Given the description of an element on the screen output the (x, y) to click on. 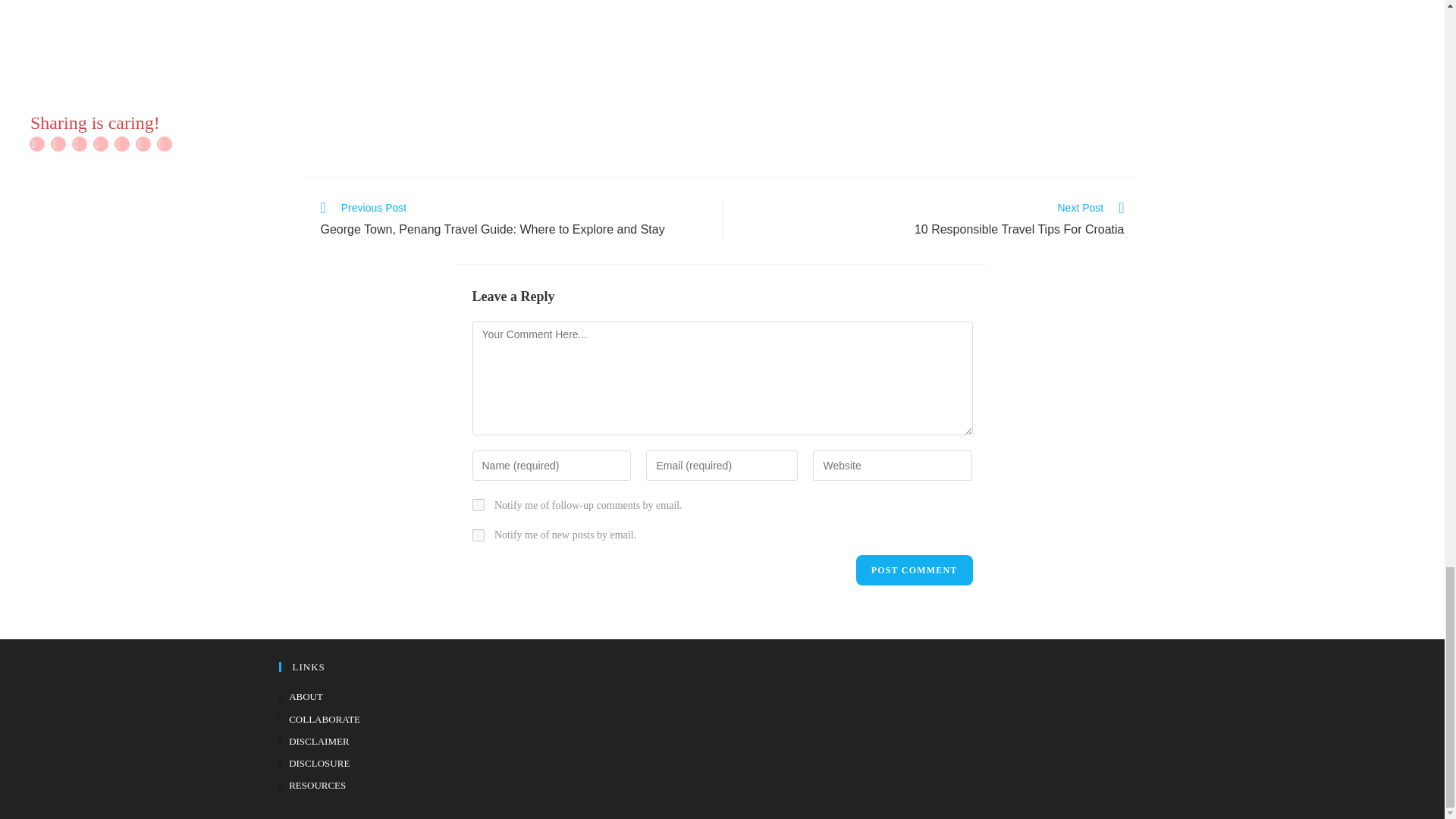
subscribe (477, 504)
Email This (122, 143)
Post Comment (914, 570)
WhatsApp (143, 143)
Facebook (37, 143)
Pinterest (79, 143)
subscribe (477, 535)
More Options (164, 143)
LinkedIn (101, 143)
